Given the description of an element on the screen output the (x, y) to click on. 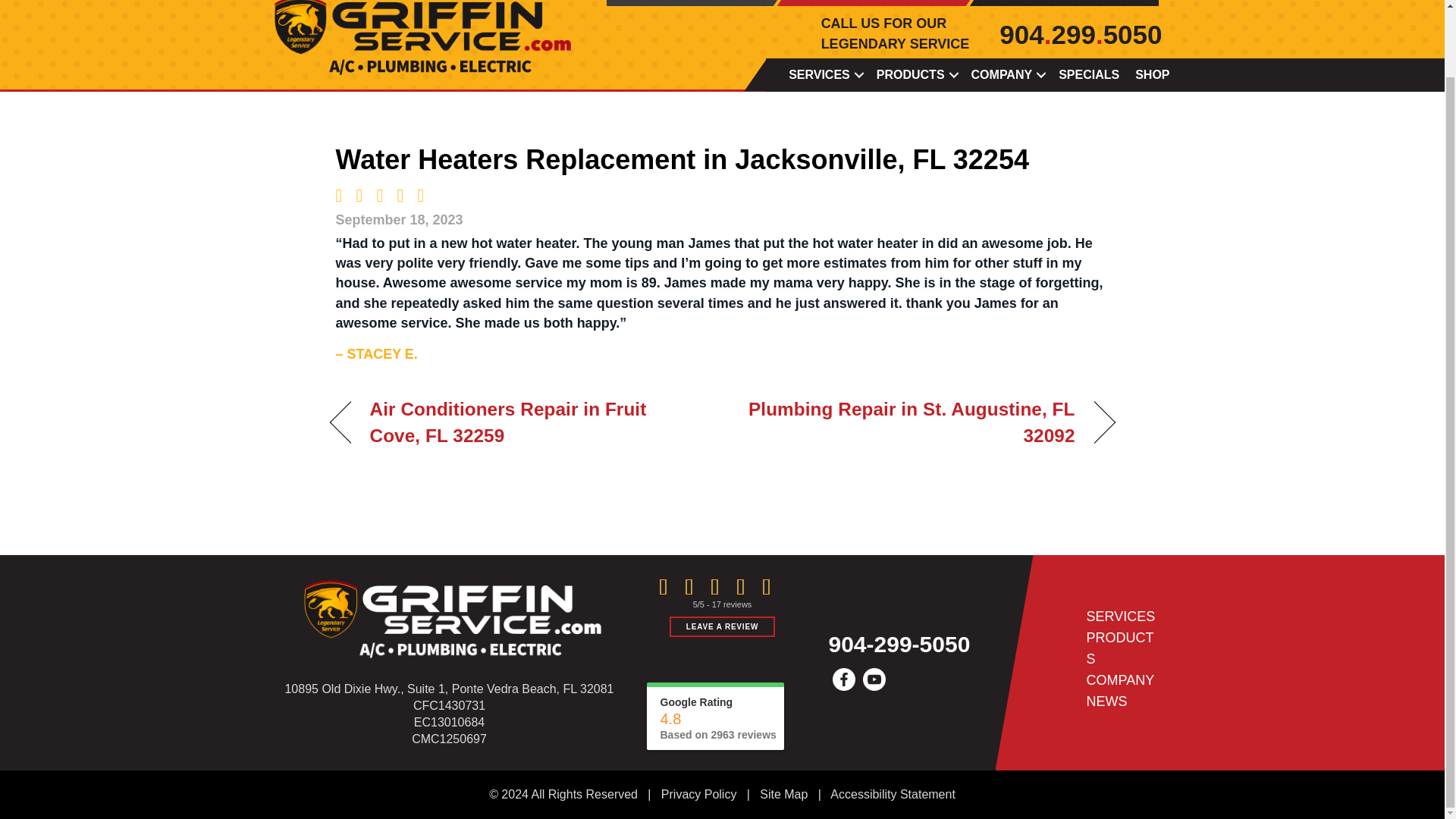
REQUEST ESTIMATE (1074, 2)
logo (448, 614)
SERVICES (823, 74)
BUY NOW (690, 2)
904.299.5050 (1079, 34)
SCHEDULE ONLINE (882, 2)
LOGO (418, 37)
